Given the description of an element on the screen output the (x, y) to click on. 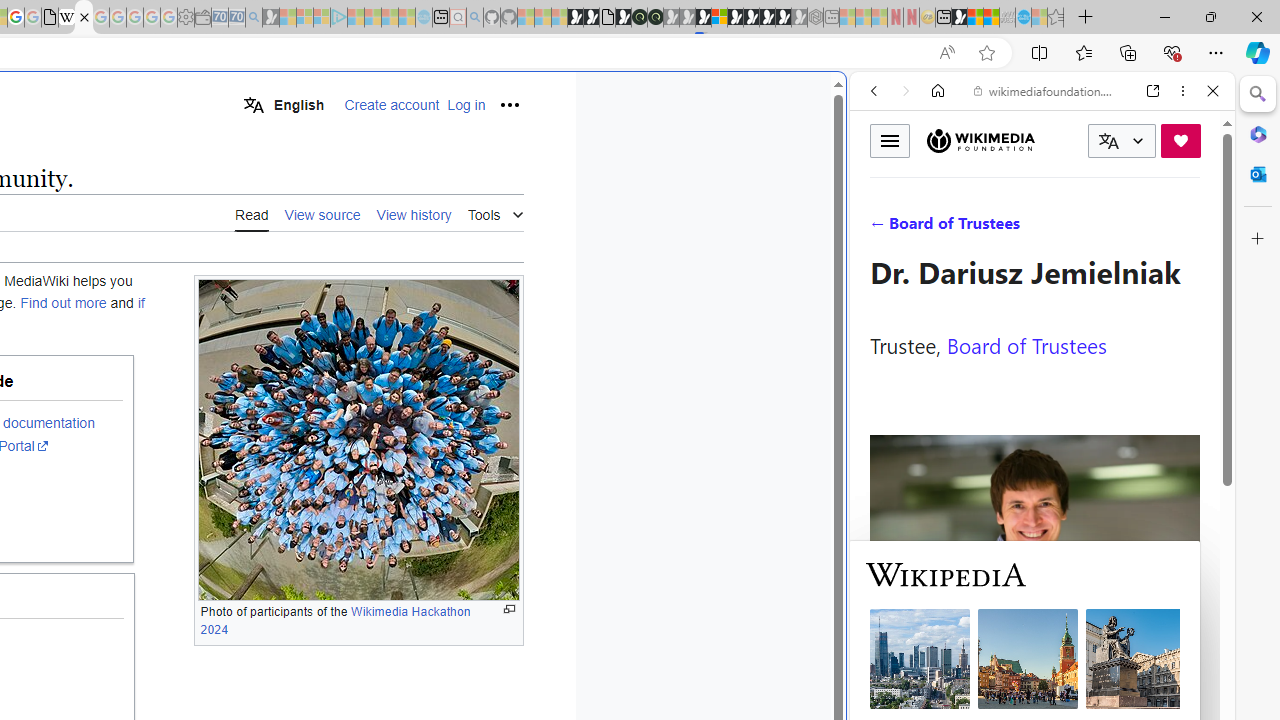
Frequently visited (418, 265)
Preferences (1189, 228)
Search the web (1051, 137)
SEARCH TOOLS (1093, 228)
Favorites - Sleeping (1055, 17)
Home | Sky Blue Bikes - Sky Blue Bikes - Sleeping (424, 17)
Toggle menu (890, 140)
Home (938, 91)
Target page - Wikipedia (66, 17)
